Given the description of an element on the screen output the (x, y) to click on. 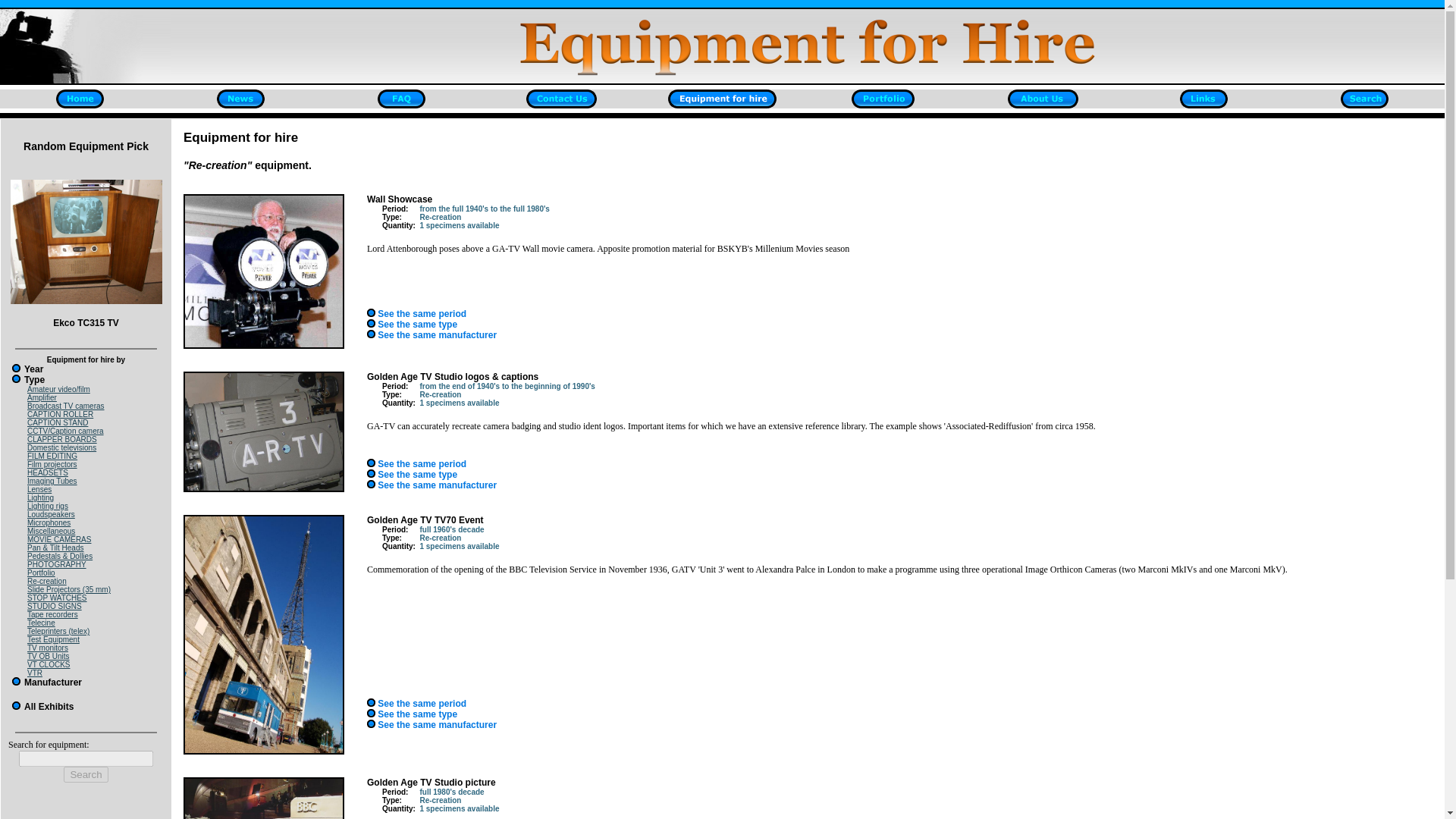
Domestic televisions (61, 447)
Search (85, 774)
Film projectors (52, 464)
Lighting (40, 497)
Broadcast TV cameras (65, 406)
Miscellaneous (51, 531)
FILM EDITING (52, 456)
STUDIO SIGNS (54, 605)
Lenses (38, 489)
CAPTION ROLLER (60, 414)
STOP WATCHES (57, 597)
Loudspeakers (51, 514)
Imaging Tubes (52, 480)
Tape recorders (52, 614)
Re-creation (46, 581)
